Given the description of an element on the screen output the (x, y) to click on. 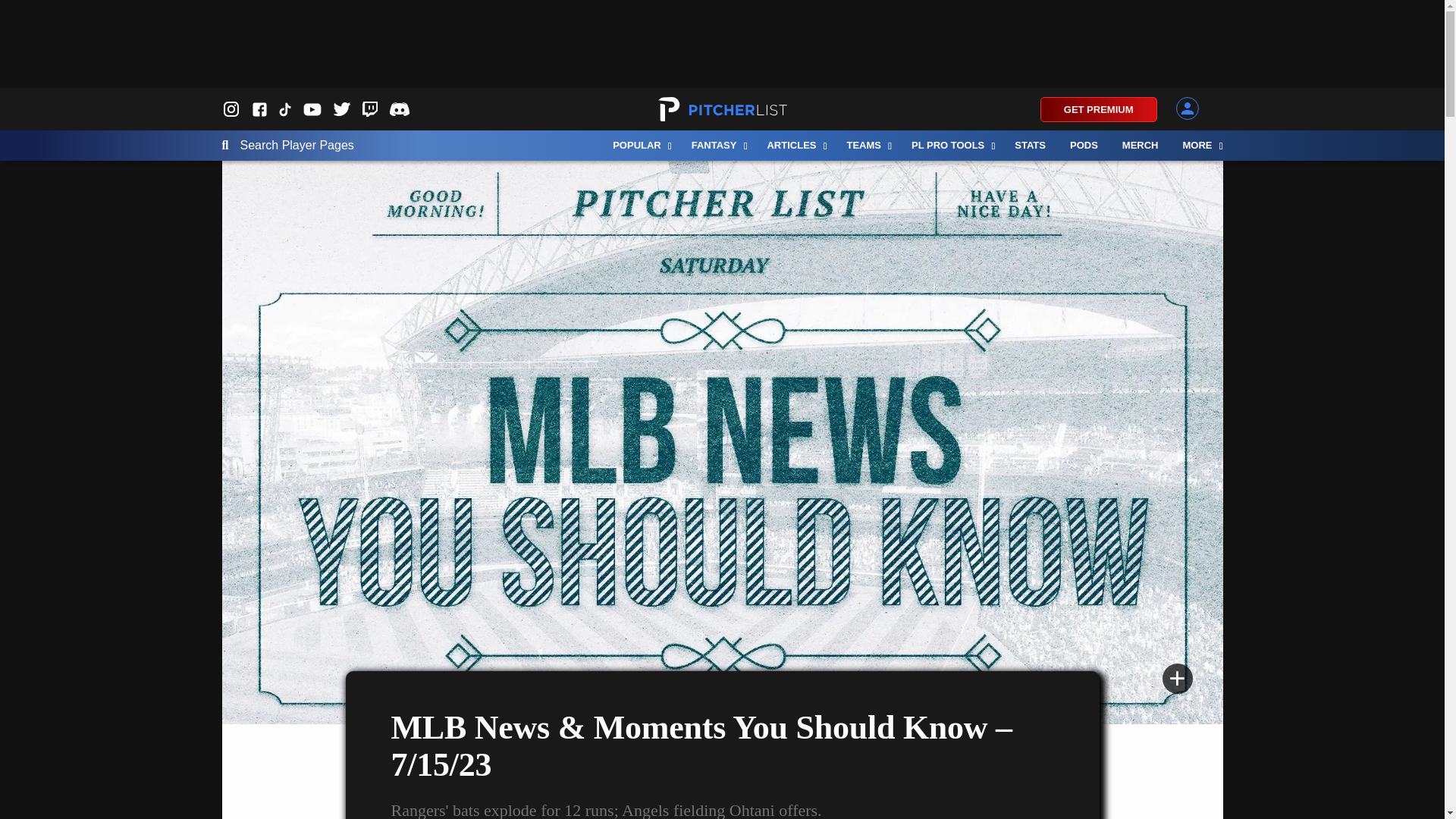
FANTASY (717, 145)
GET PREMIUM (1099, 109)
